Given the description of an element on the screen output the (x, y) to click on. 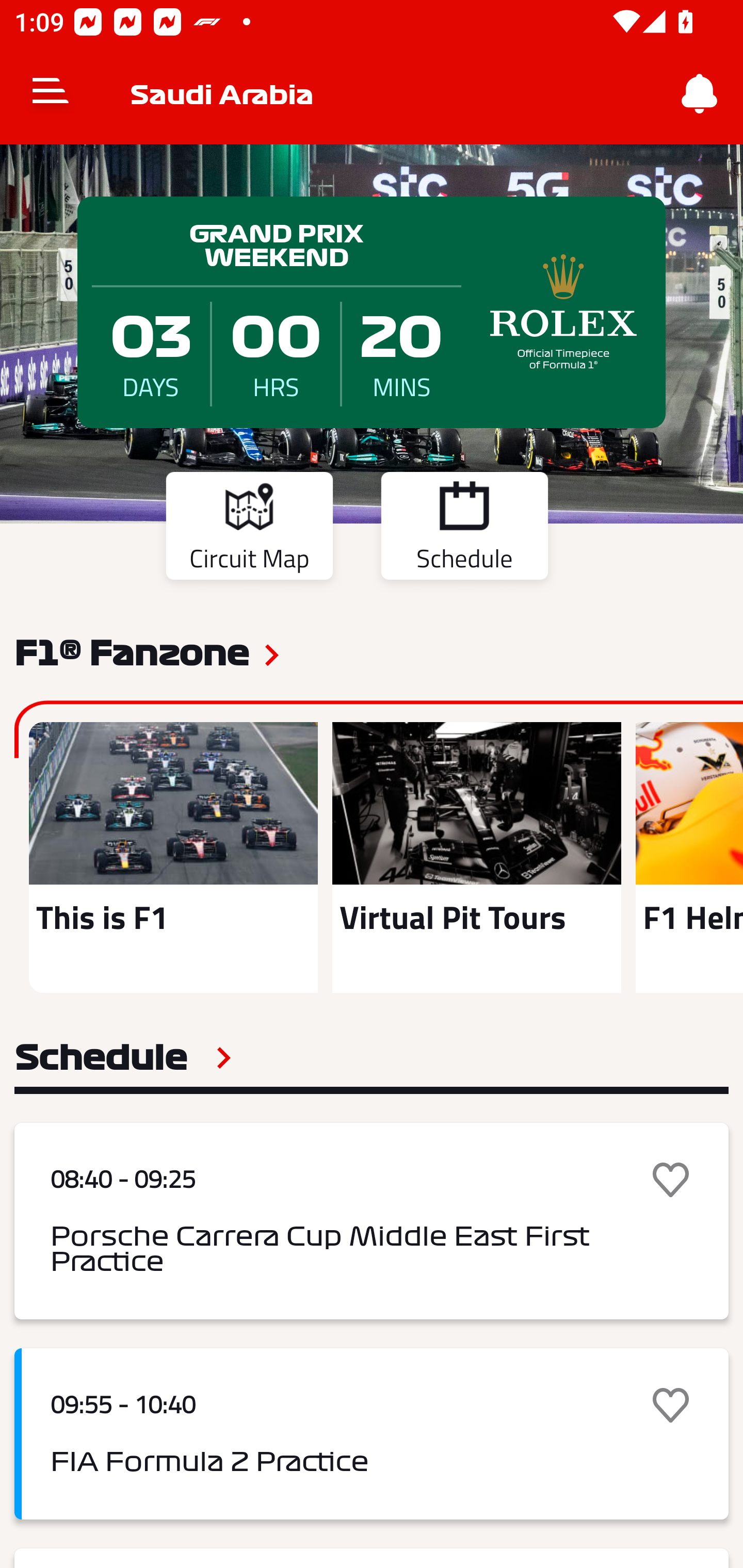
Navigate up (50, 93)
Notifications (699, 93)
Circuit Map (249, 528)
Schedule (464, 528)
F1® Fanzone (131, 651)
This is F1 (173, 857)
Virtual Pit Tours (476, 857)
Schedule (122, 1057)
09:55 - 10:40 FIA Formula 2 Practice (371, 1433)
